Given the description of an element on the screen output the (x, y) to click on. 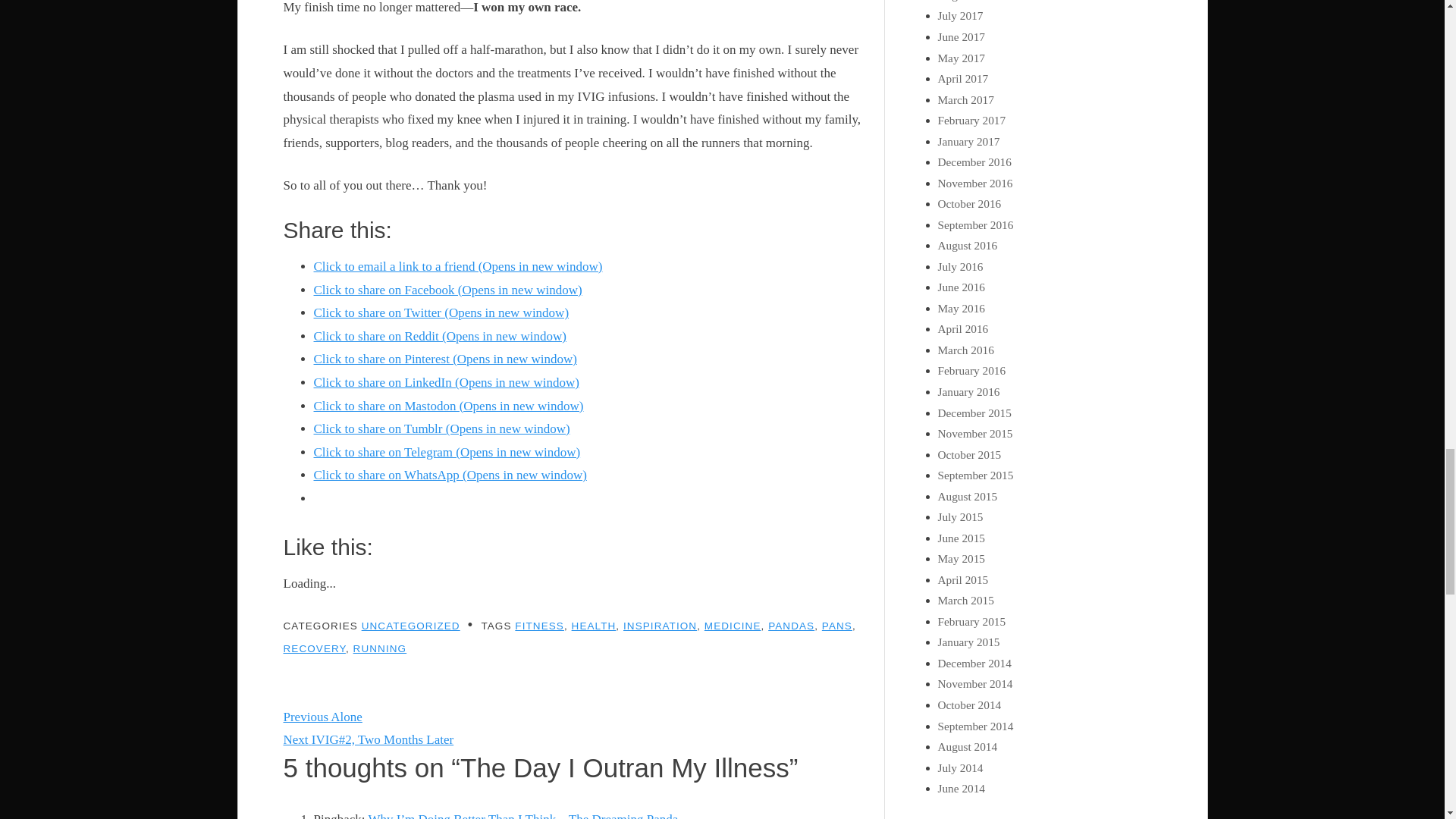
Click to share on LinkedIn (446, 382)
Click to share on Tumblr (442, 428)
FITNESS (539, 625)
Click to share on Facebook (448, 289)
UNCATEGORIZED (410, 625)
Click to share on Telegram (447, 452)
Click to email a link to a friend (458, 266)
Click to share on Mastodon (448, 405)
Click to share on Pinterest (446, 359)
Click to share on Twitter (441, 312)
